Given the description of an element on the screen output the (x, y) to click on. 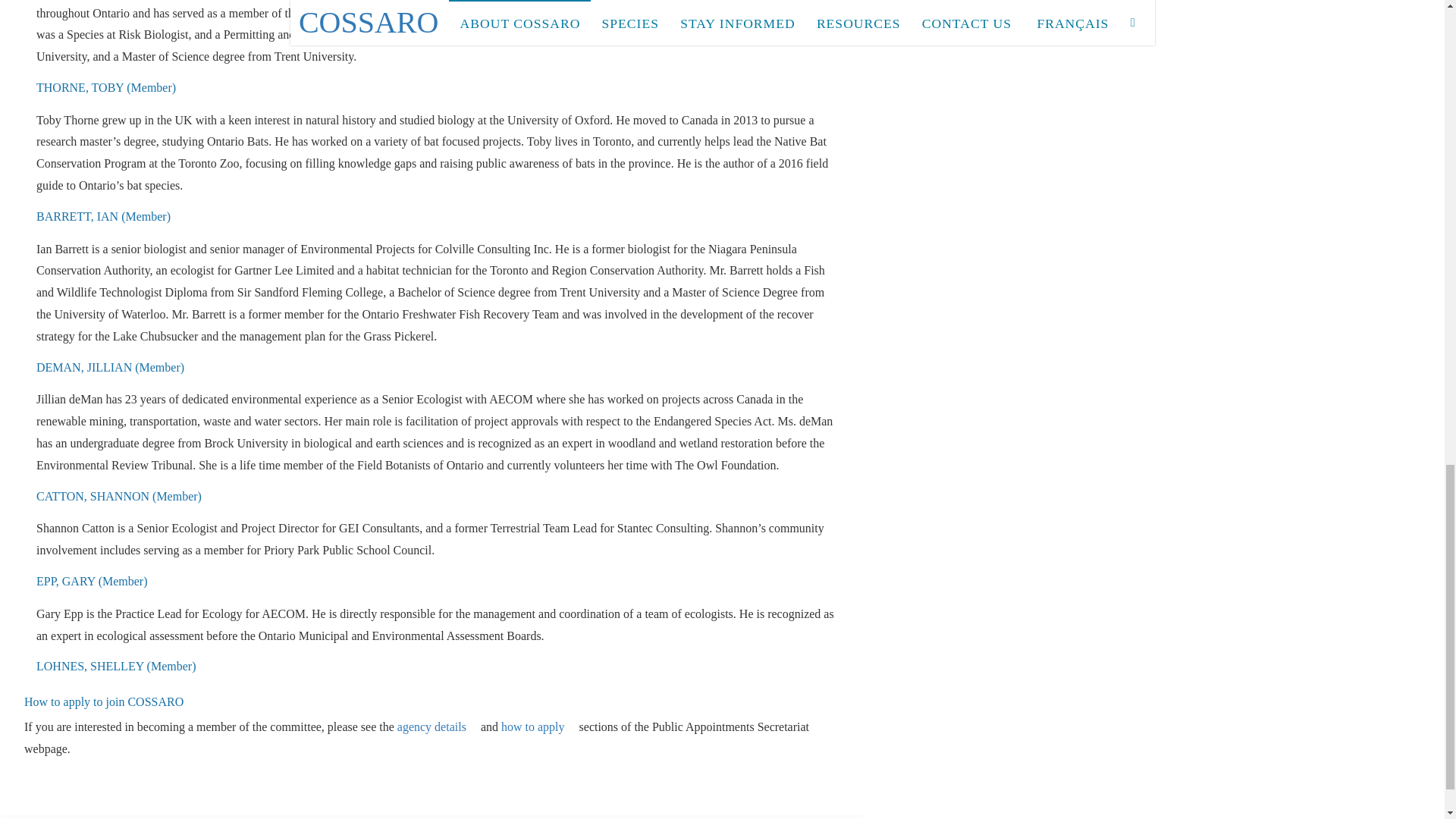
how to apply (538, 726)
agency details (437, 726)
